Given the description of an element on the screen output the (x, y) to click on. 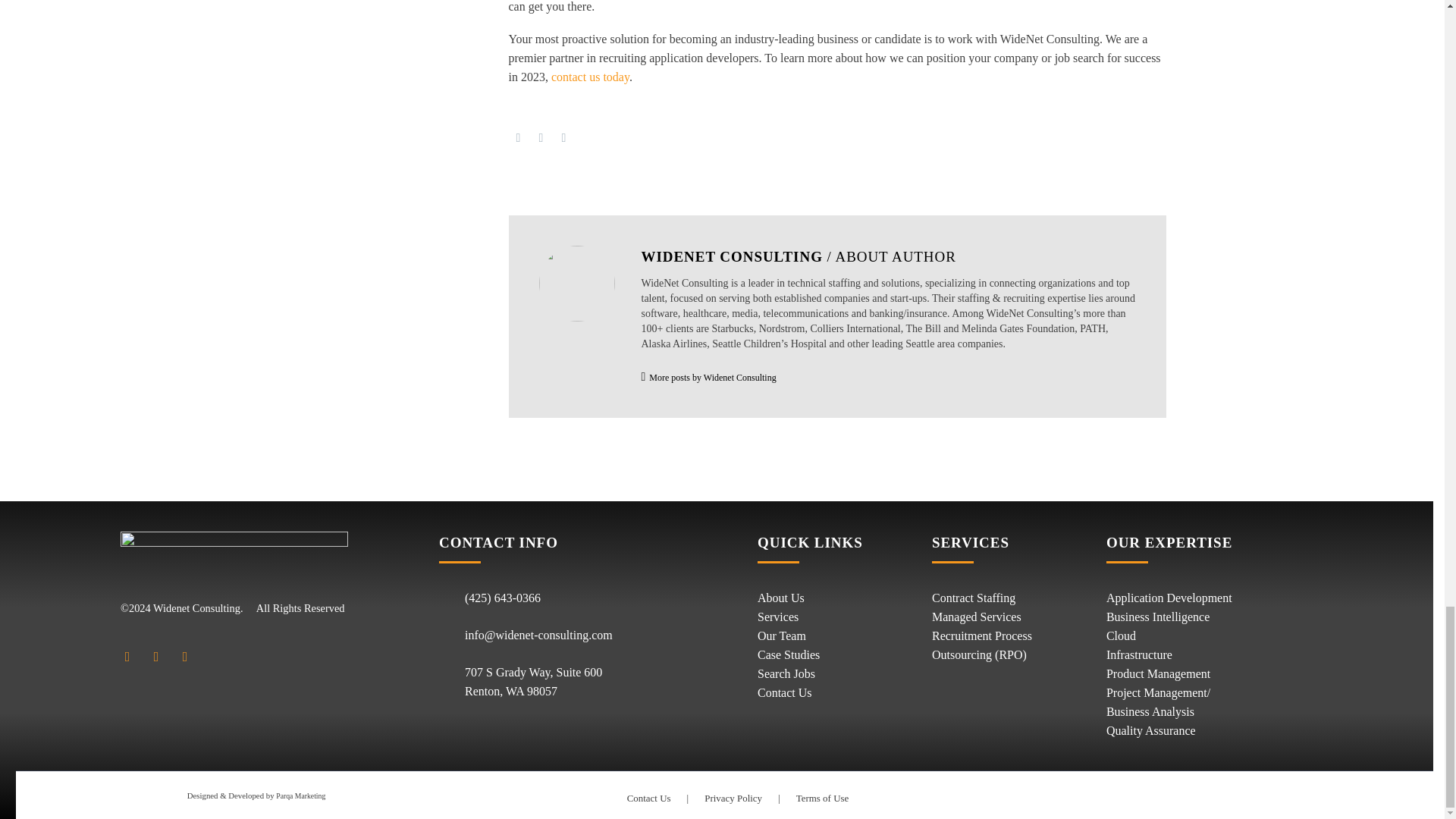
LinkedIn (563, 137)
Facebook (518, 137)
Twitter (541, 137)
